Given the description of an element on the screen output the (x, y) to click on. 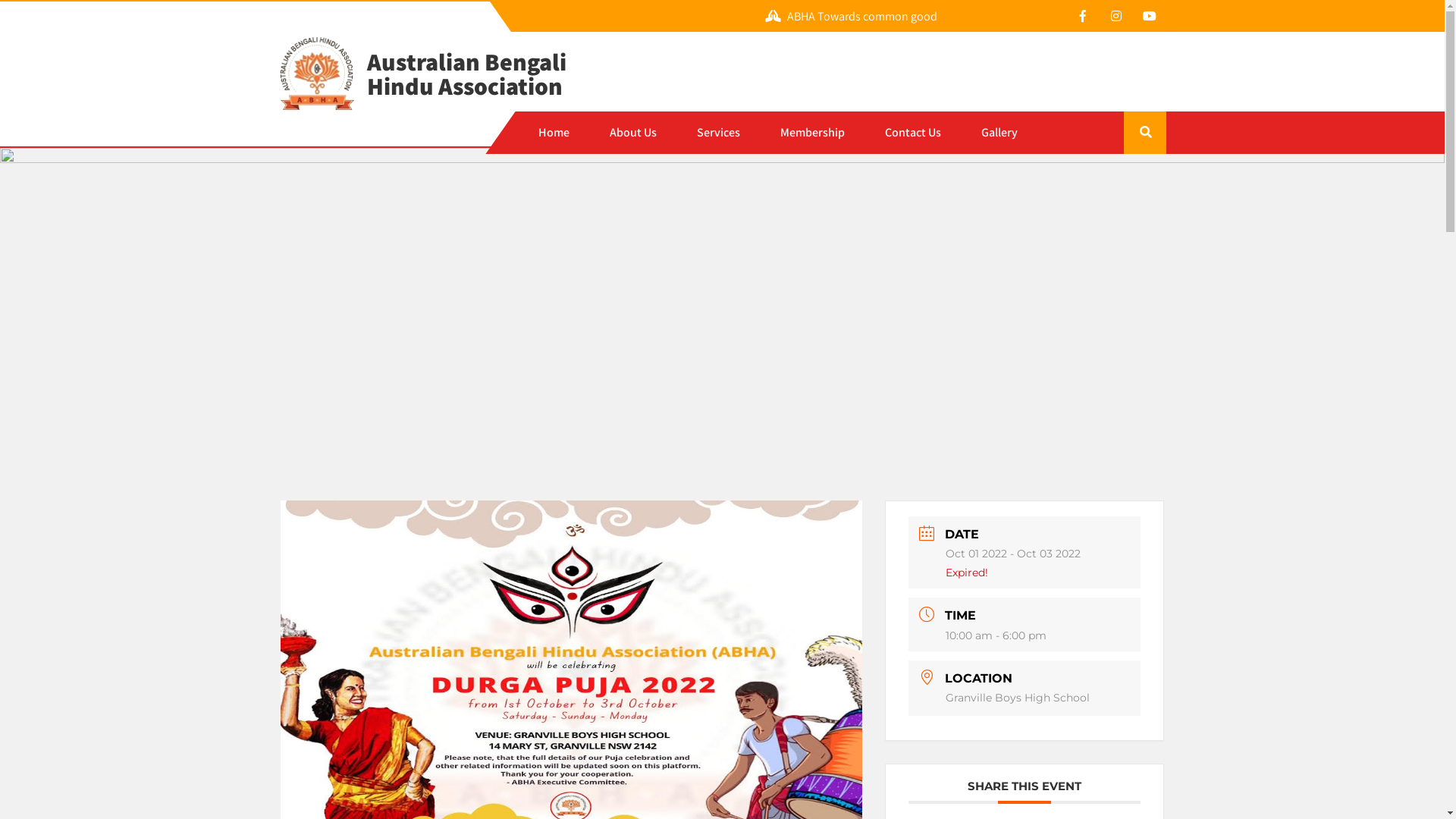
Contact Us Element type: text (913, 132)
Gallery Element type: text (999, 132)
Membership Element type: text (812, 132)
About Us Element type: text (632, 132)
Home Element type: text (553, 132)
Services Element type: text (718, 132)
Australian Bengali Hindu Association Element type: text (456, 66)
